Given the description of an element on the screen output the (x, y) to click on. 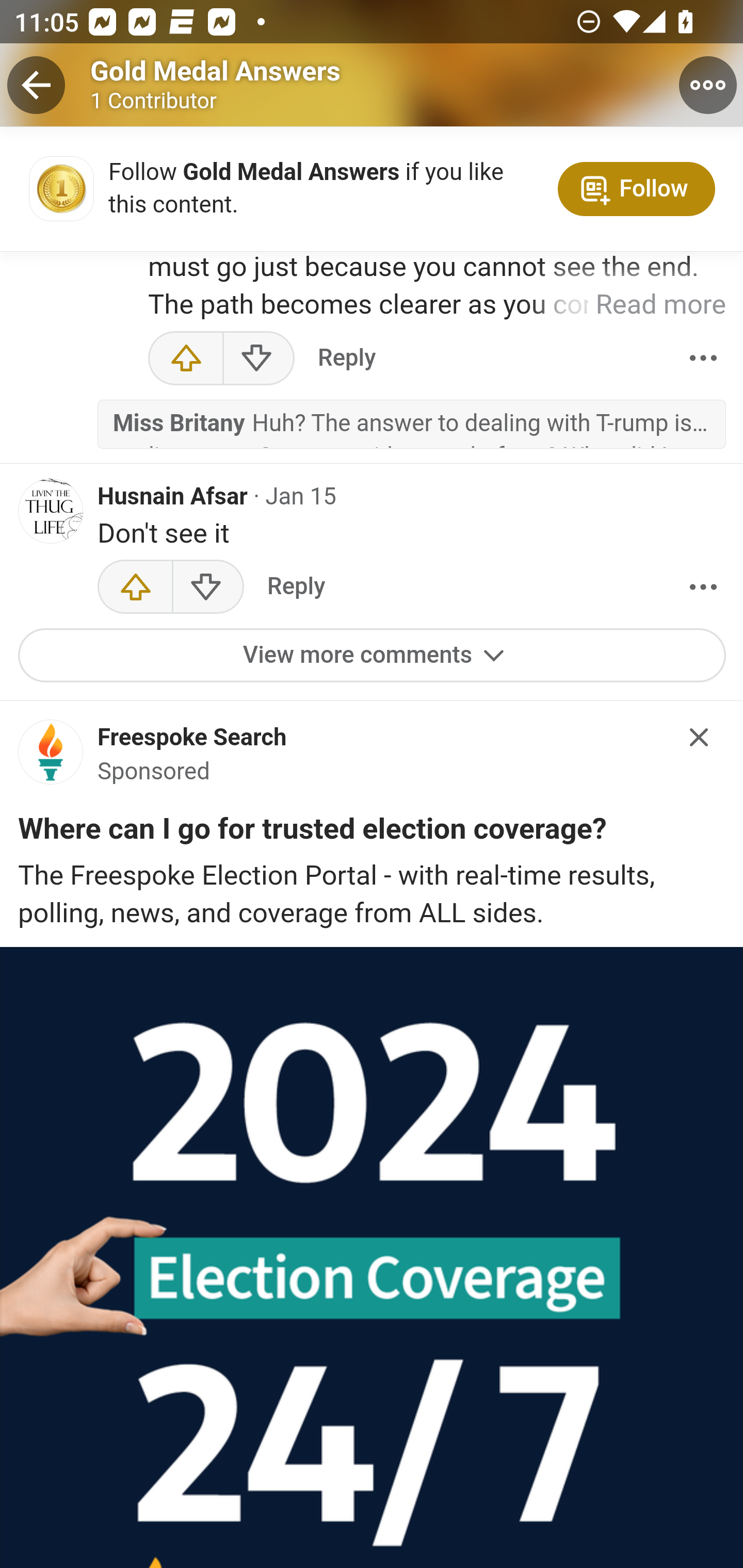
Upvote (185, 359)
Downvote (257, 359)
Reply (346, 359)
More (703, 359)
Profile photo for Husnain Afsar (50, 512)
Husnain Afsar (172, 498)
Upvote (135, 589)
Downvote (207, 589)
Reply (295, 589)
More (703, 589)
View more comments (372, 658)
Hide (699, 739)
main-qimg-784c0b59c1772b60fd46a882711c92a8 (50, 758)
Freespoke Search (191, 740)
Where can I go for trusted election coverage? (312, 834)
